Given the description of an element on the screen output the (x, y) to click on. 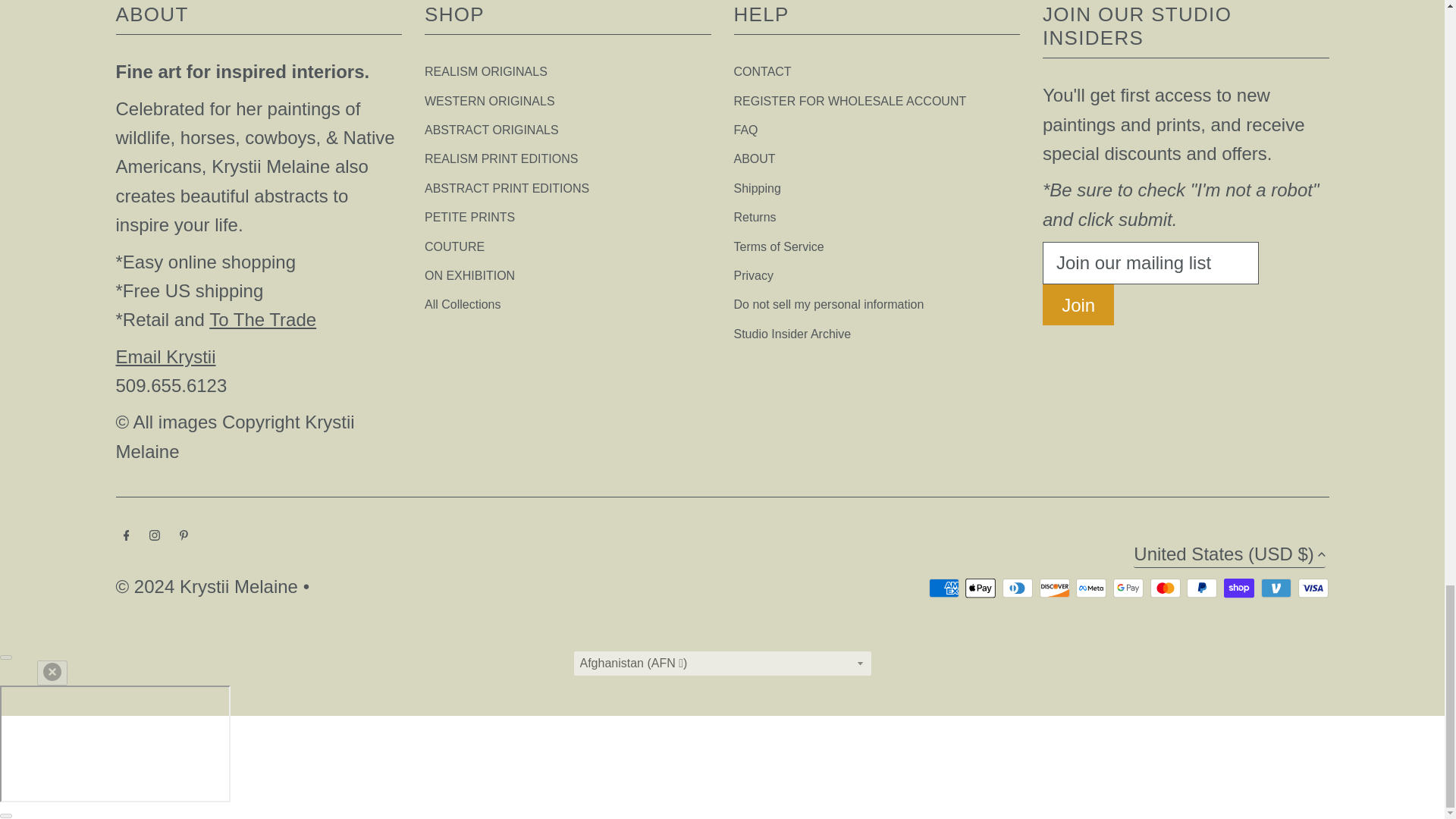
Apple Pay (980, 587)
Diners Club (1017, 587)
American Express (943, 587)
Google Pay (1127, 587)
Discover (1054, 587)
Meta Pay (1090, 587)
Join (1077, 304)
